Given the description of an element on the screen output the (x, y) to click on. 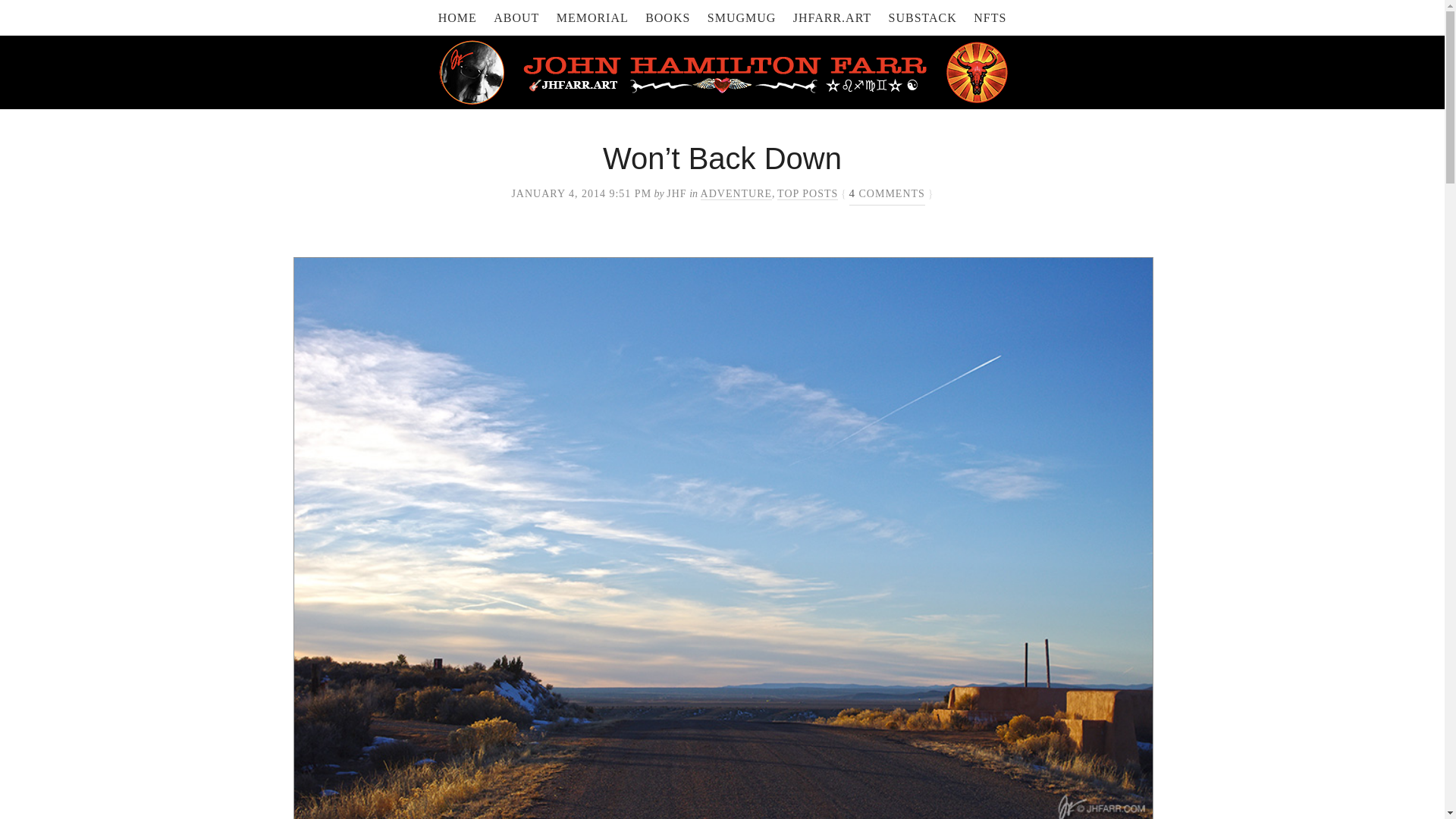
BOOKS (667, 18)
MEMORIAL (591, 18)
CURRENT COLLECTION (989, 18)
Who am I? (515, 18)
GODDAMN BUFFALO (922, 18)
JHFARR.ART (832, 18)
4 COMMENTS (886, 193)
ABOUT (515, 18)
SUBSTACK (922, 18)
TOP POSTS (807, 193)
